Given the description of an element on the screen output the (x, y) to click on. 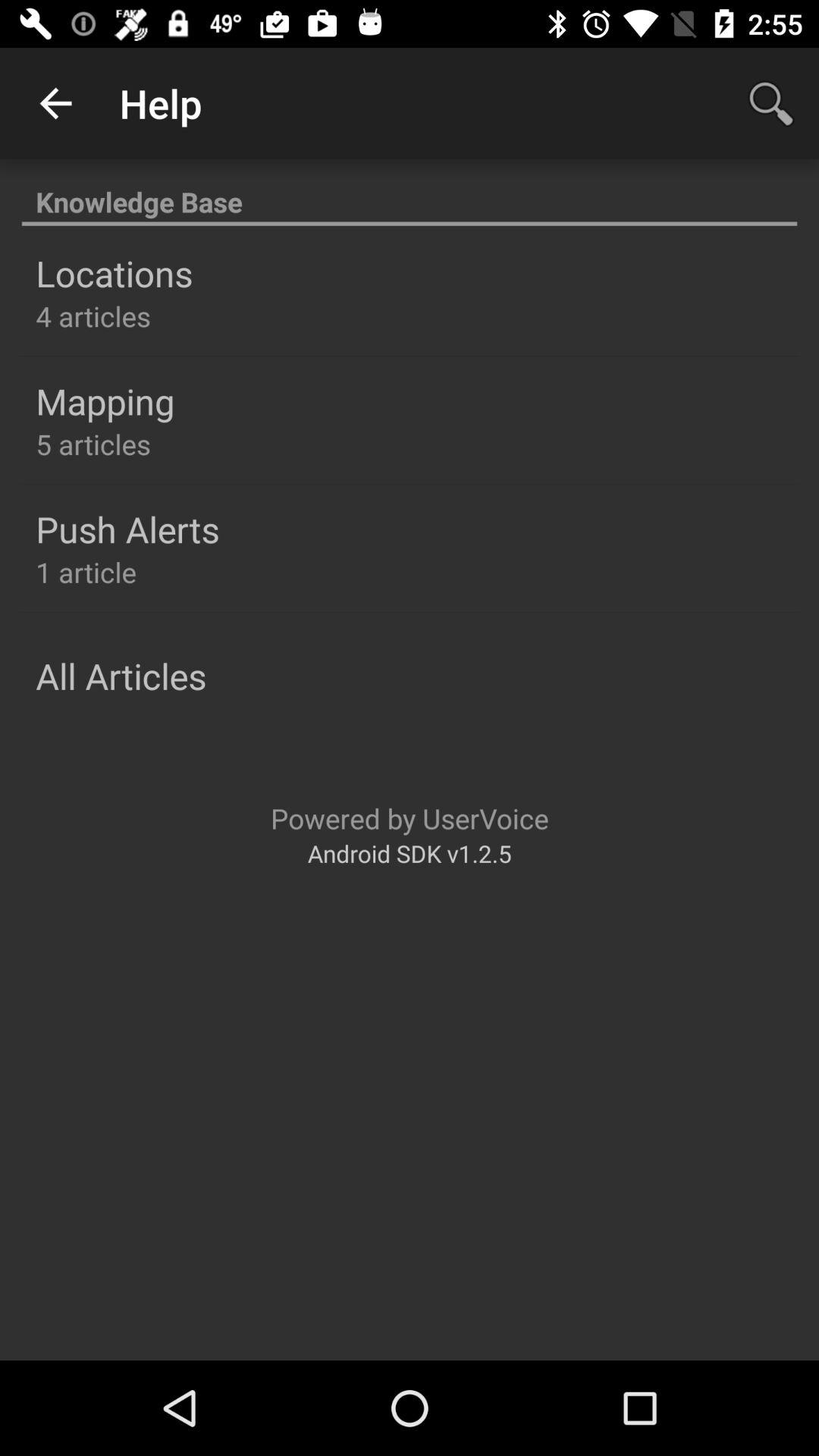
choose the android sdk v1 icon (409, 853)
